Given the description of an element on the screen output the (x, y) to click on. 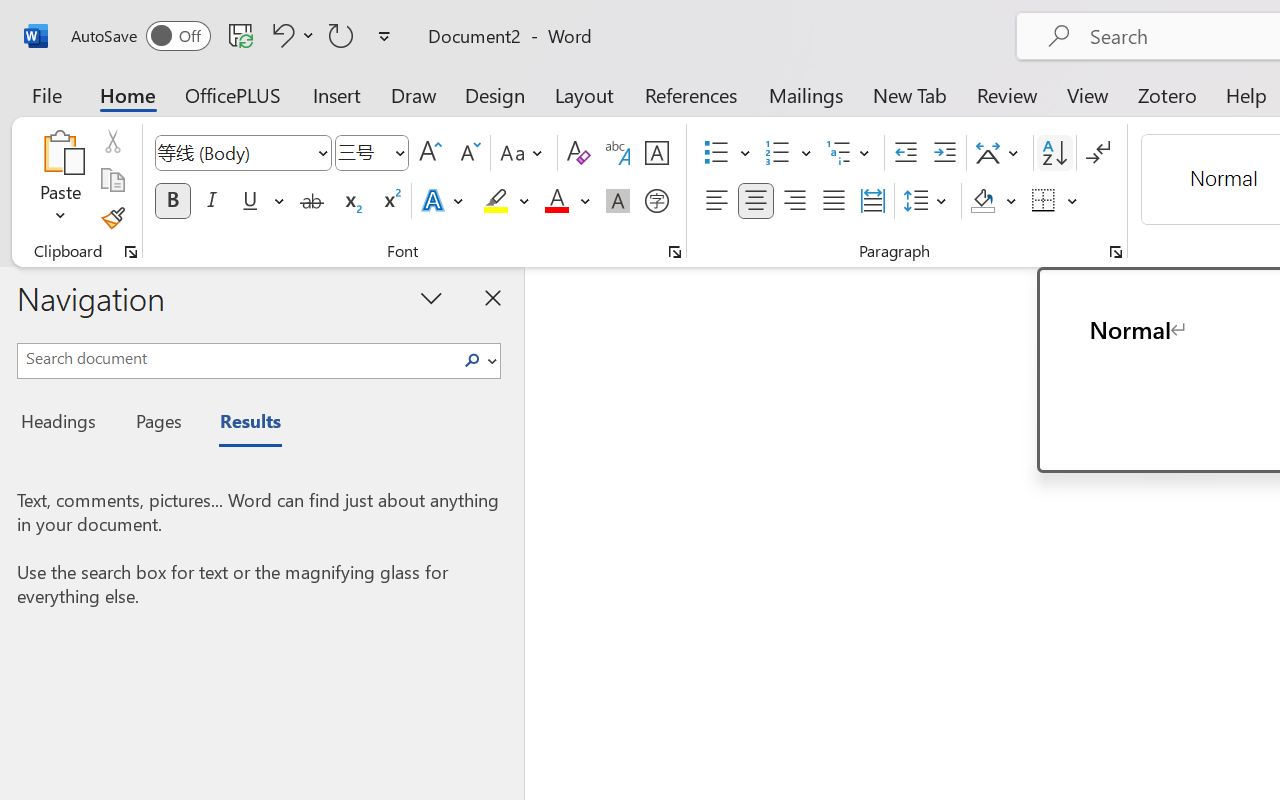
Text Highlight Color (506, 201)
Bold (172, 201)
New Tab (909, 94)
Search document (236, 358)
Class: NetUIImage (471, 360)
Grow Font (430, 153)
Save (241, 35)
Enclose Characters... (656, 201)
Zotero (1166, 94)
Borders (1055, 201)
Undo Style (290, 35)
